Given the description of an element on the screen output the (x, y) to click on. 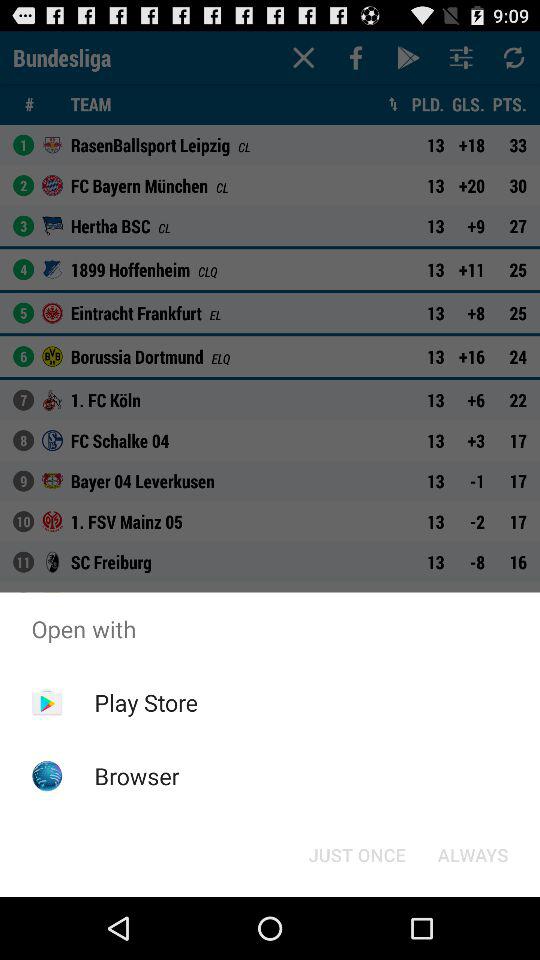
flip until browser app (136, 775)
